Given the description of an element on the screen output the (x, y) to click on. 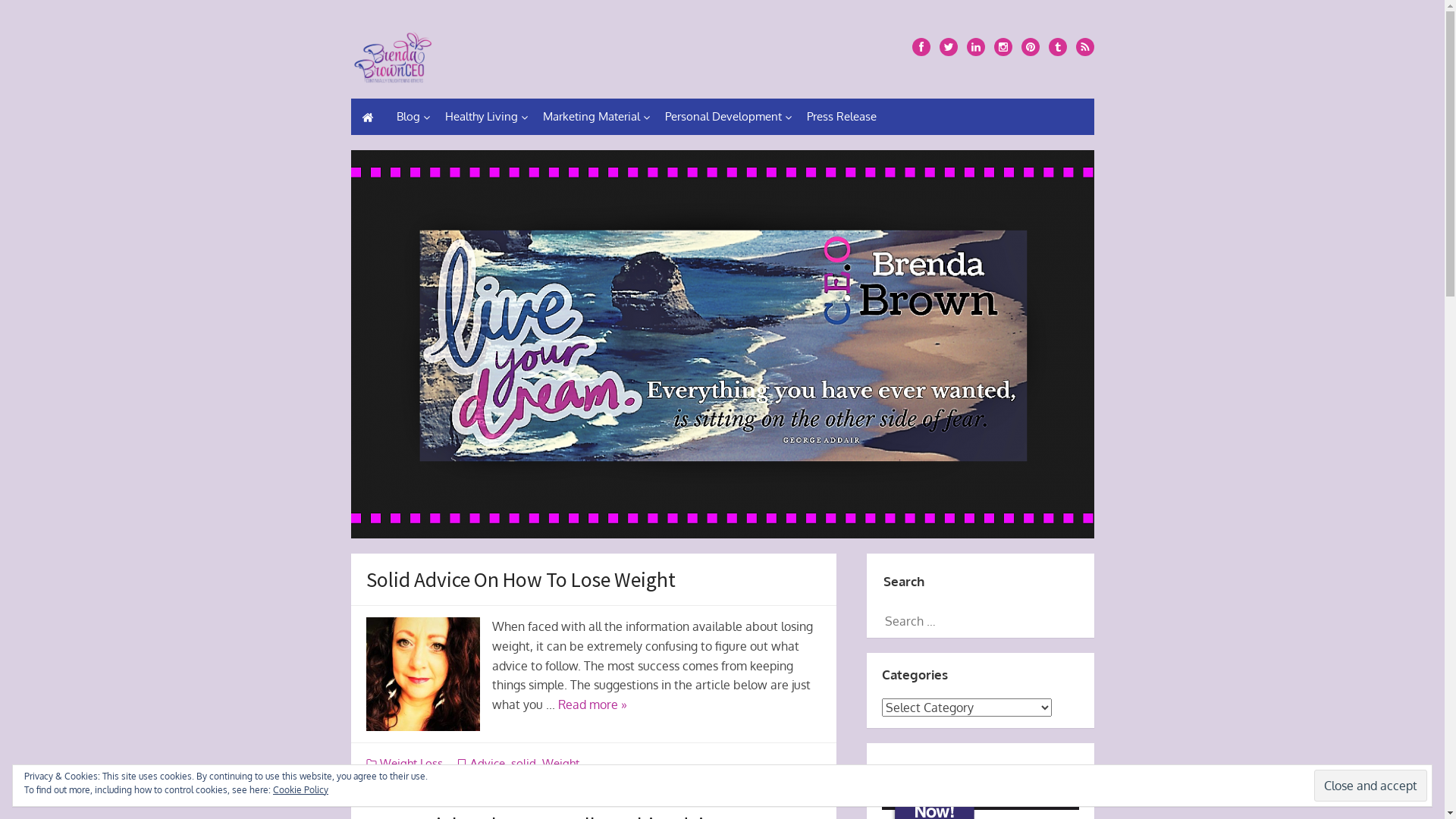
Close and accept Element type: text (1370, 785)
Healthy Living Element type: text (482, 116)
solid Element type: text (523, 763)
Permalink to Solid Advice On How To Lose Weight Element type: hover (422, 674)
Solid Advice On How To Lose Weight Element type: text (519, 579)
Advice Element type: text (487, 763)
Weight Loss Element type: text (410, 763)
Brenda Brown CEO Element type: hover (721, 344)
Brenda Brown CEO Element type: hover (392, 54)
Search Element type: text (37, 15)
Weight Element type: text (560, 763)
Cookie Policy Element type: text (300, 789)
Personal Development Element type: text (724, 116)
Press Release Element type: text (841, 116)
Marketing Material Element type: text (592, 116)
Blog Element type: text (409, 116)
